Given the description of an element on the screen output the (x, y) to click on. 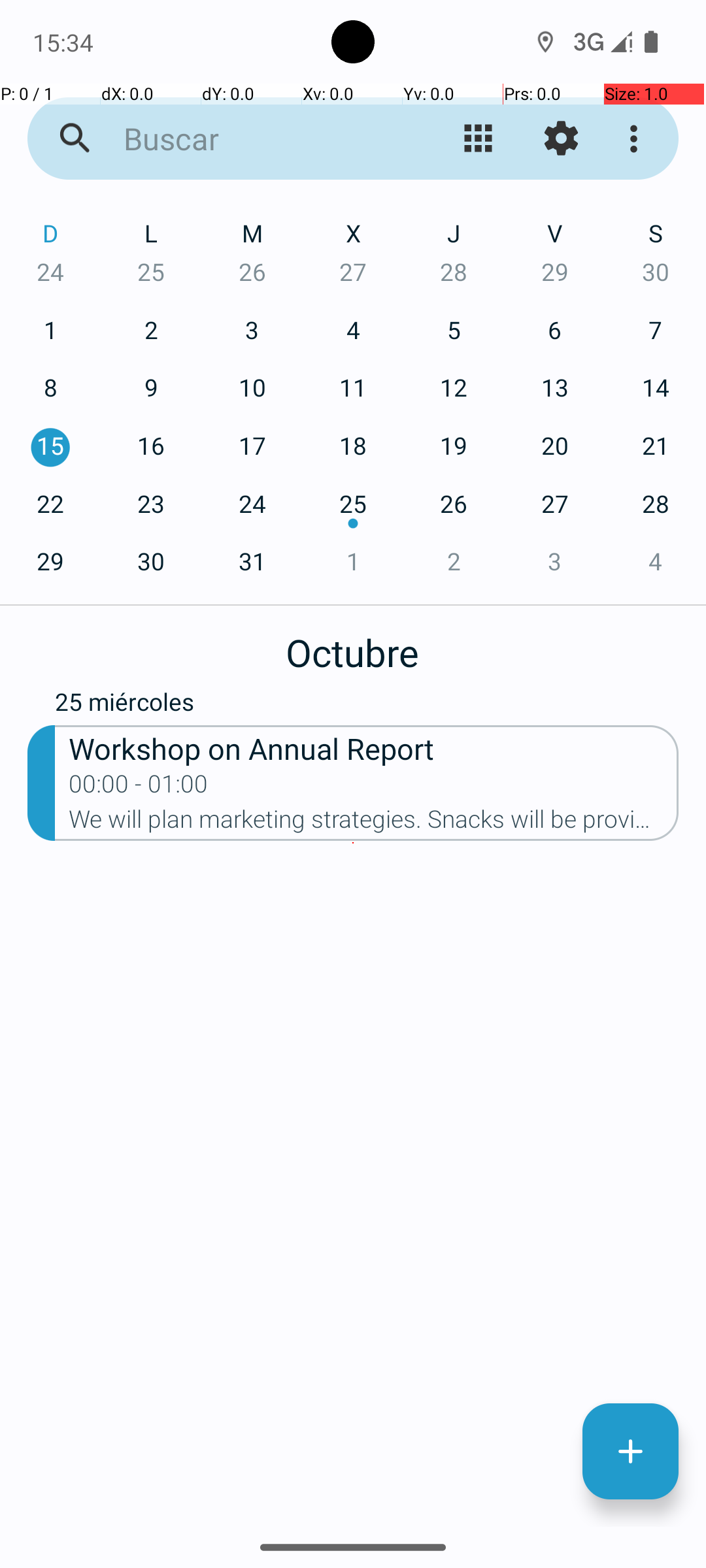
25 miércoles Element type: android.widget.TextView (366, 704)
Workshop on Annual Report Element type: android.widget.TextView (373, 747)
00:00 - 01:00 Element type: android.widget.TextView (137, 787)
We will plan marketing strategies. Snacks will be provided. Element type: android.widget.TextView (373, 822)
